Given the description of an element on the screen output the (x, y) to click on. 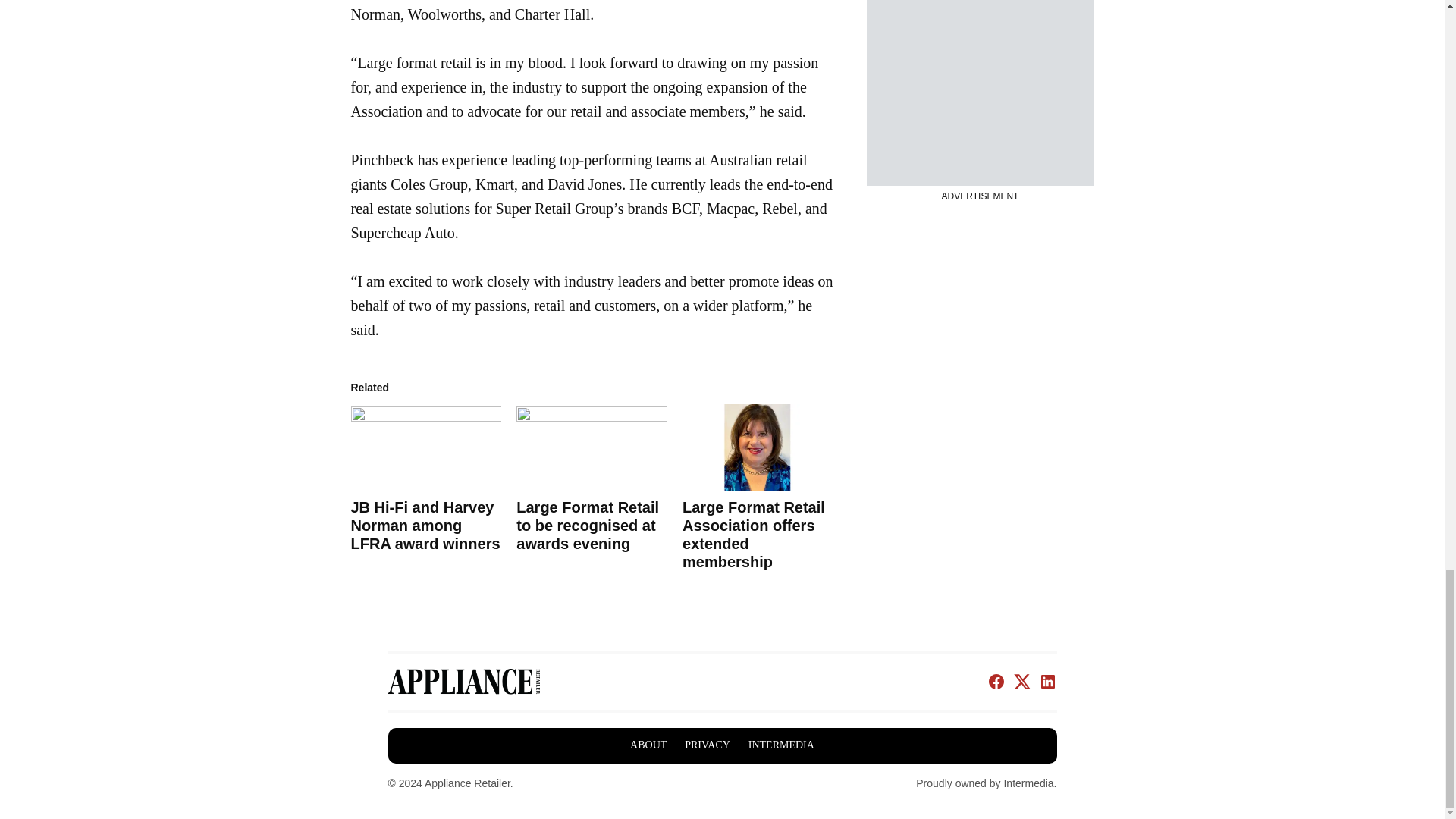
JB Hi-Fi and Harvey Norman among LFRA award winners (424, 525)
JB Hi-Fi and Harvey Norman among LFRA award winners (425, 447)
Large Format Retail to be recognised at awards evening (591, 447)
Large Format Retail Association offers extended membership (753, 534)
Large Format Retail Association offers extended membership (757, 447)
Large Format Retail to be recognised at awards evening (587, 525)
